Given the description of an element on the screen output the (x, y) to click on. 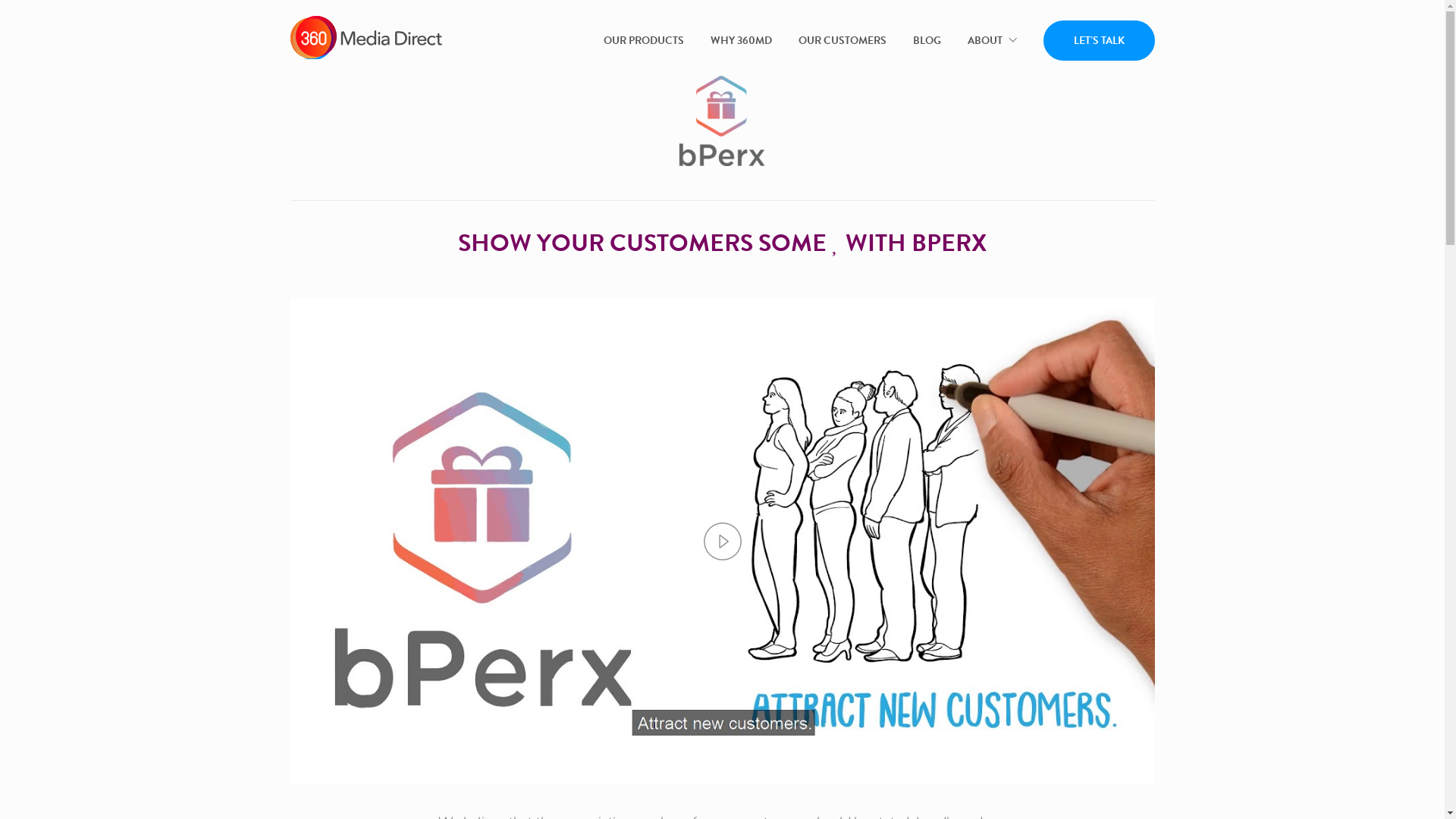
OUR CUSTOMERS Element type: text (841, 40)
Instagram Element type: hover (764, 669)
CALIFORNIA DO NOT SELL MY INFO Element type: text (693, 742)
Facebook Element type: hover (639, 669)
WHY 360MD Element type: text (740, 40)
Play Video Element type: text (722, 541)
PRIVACY POLICY Element type: text (510, 742)
BLOG Element type: text (927, 40)
Twitter Element type: hover (722, 669)
LinkedIn Element type: hover (680, 669)
TERMS AND CONDITIONS Element type: text (905, 742)
360 Media Direct Element type: hover (722, 516)
bperx Element type: hover (721, 120)
ABOUT Element type: text (991, 40)
Let's talk Element type: text (667, 630)
OUR PRODUCTS Element type: text (643, 40)
YouTube Element type: hover (805, 669)
